Given the description of an element on the screen output the (x, y) to click on. 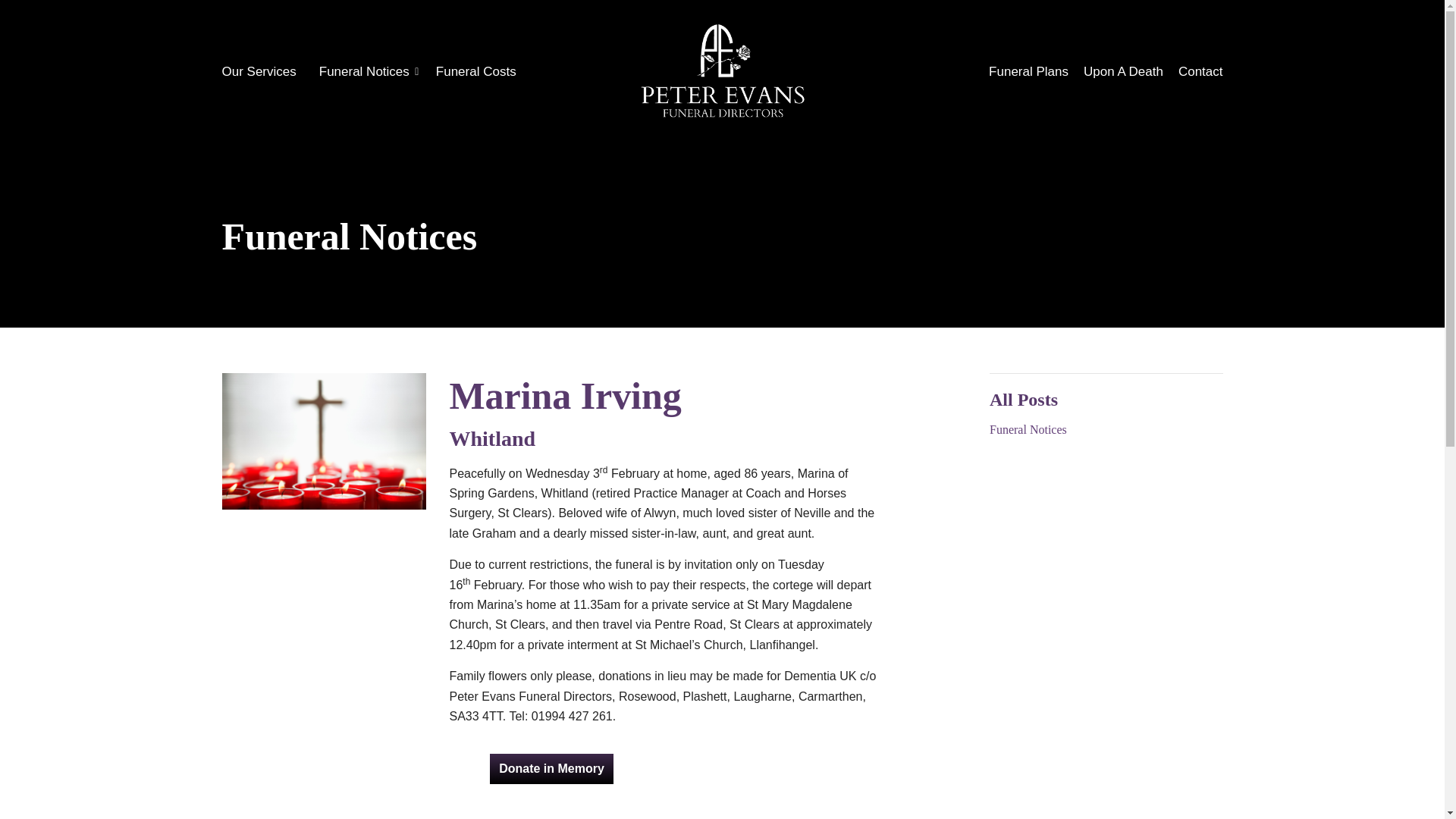
All Posts (1024, 399)
Peter Evans Funeral Directors Carmarthenshire (721, 71)
Skip to main content (721, 16)
Funeral Notices (1106, 429)
Donate in Memory (551, 768)
